Given the description of an element on the screen output the (x, y) to click on. 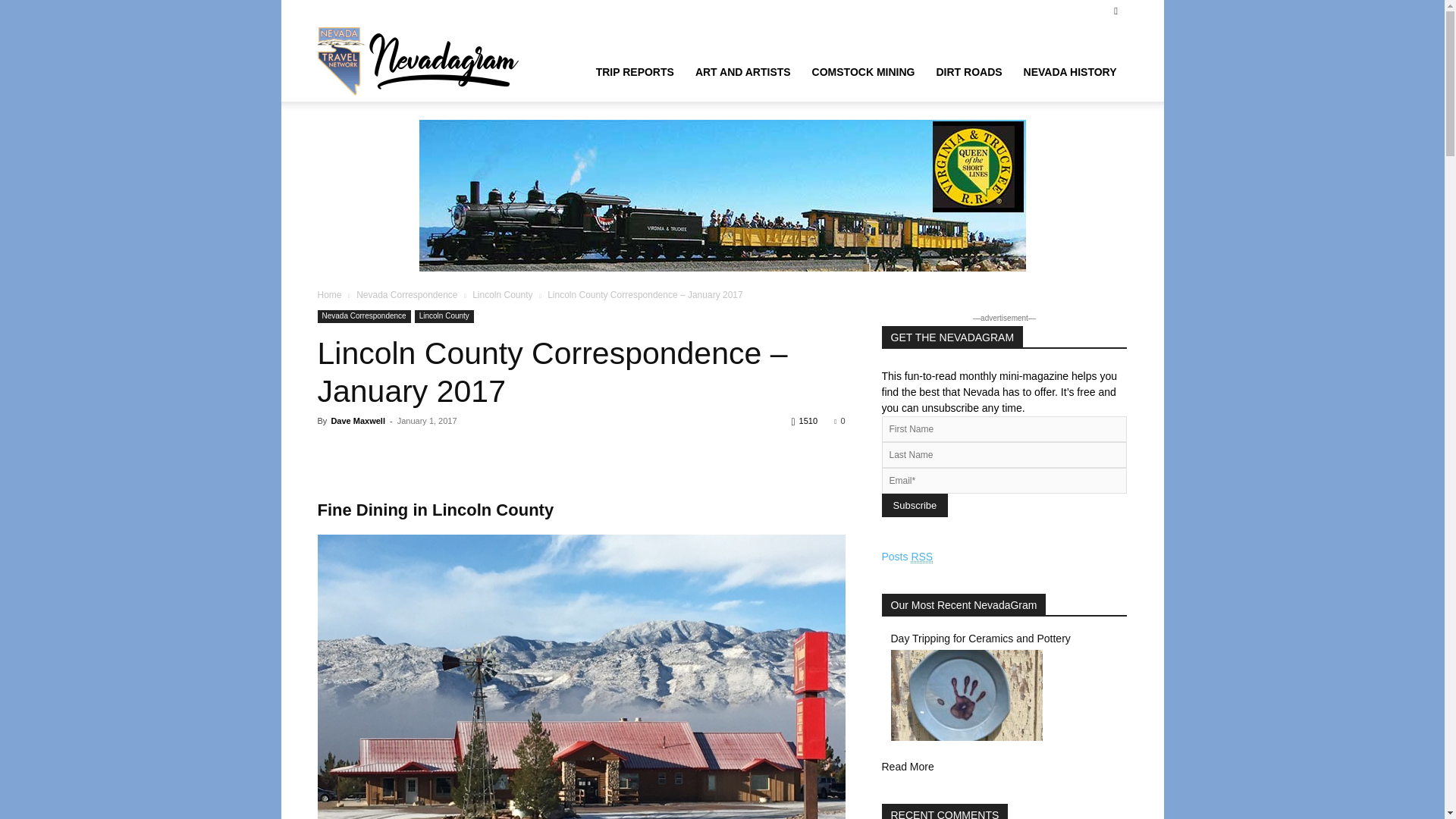
NevadaGram from the Nevada Travel Network (419, 61)
View all posts in Lincoln County (501, 294)
0 (839, 420)
Nevada Correspondence (363, 316)
Subscribe (913, 504)
Search (1085, 64)
Home (328, 294)
Dave Maxwell (357, 420)
DIRT ROADS (967, 71)
Lincoln County (444, 316)
COMSTOCK MINING (864, 71)
NEVADA HISTORY (1069, 71)
TRIP REPORTS (634, 71)
Nevada Correspondence (406, 294)
View all posts in Nevada Correspondence (406, 294)
